Given the description of an element on the screen output the (x, y) to click on. 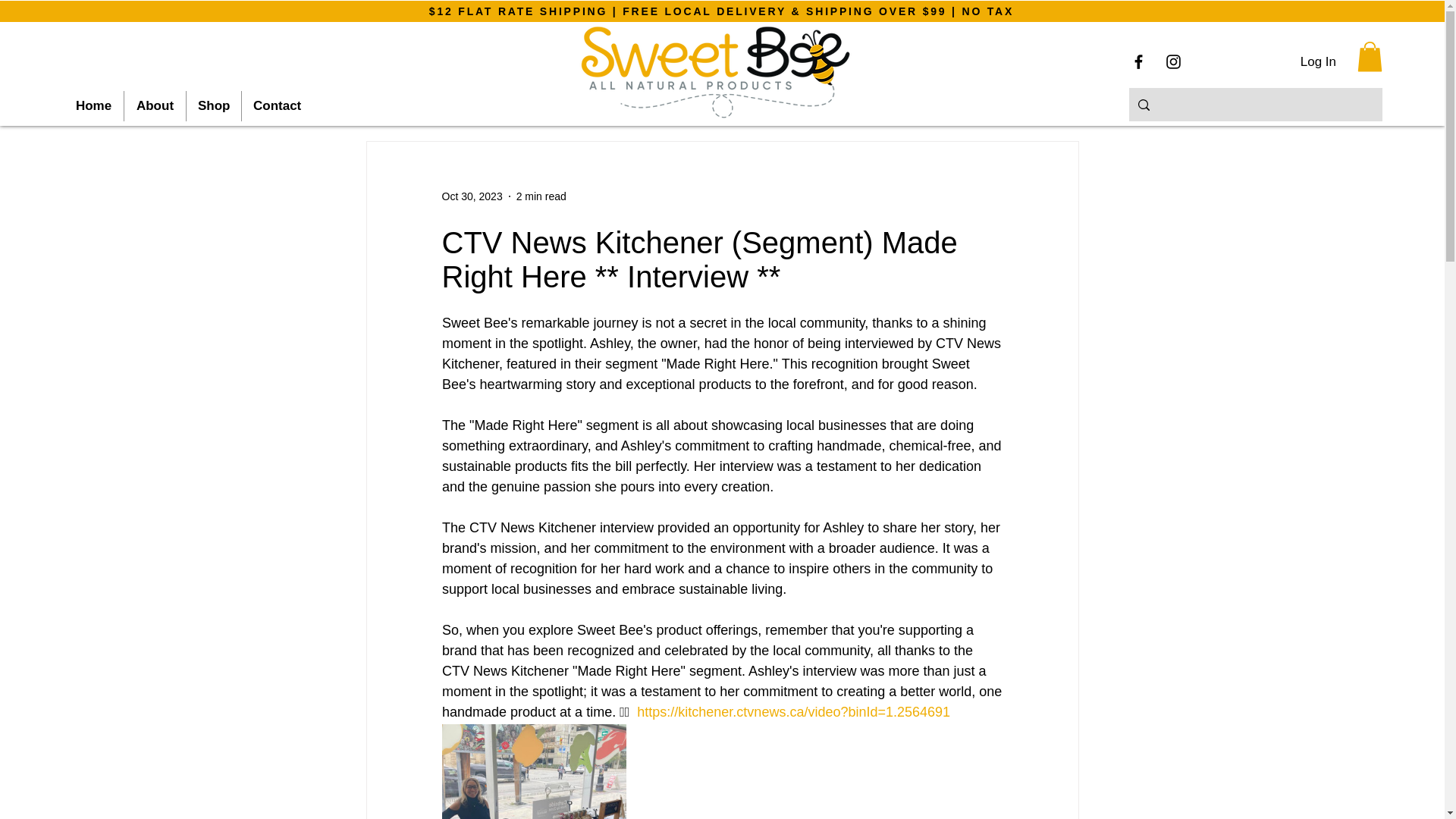
Oct 30, 2023 (471, 196)
Log In (1318, 62)
Shop (213, 105)
Home (93, 105)
2 min read (541, 196)
About (154, 105)
Contact (277, 105)
